Given the description of an element on the screen output the (x, y) to click on. 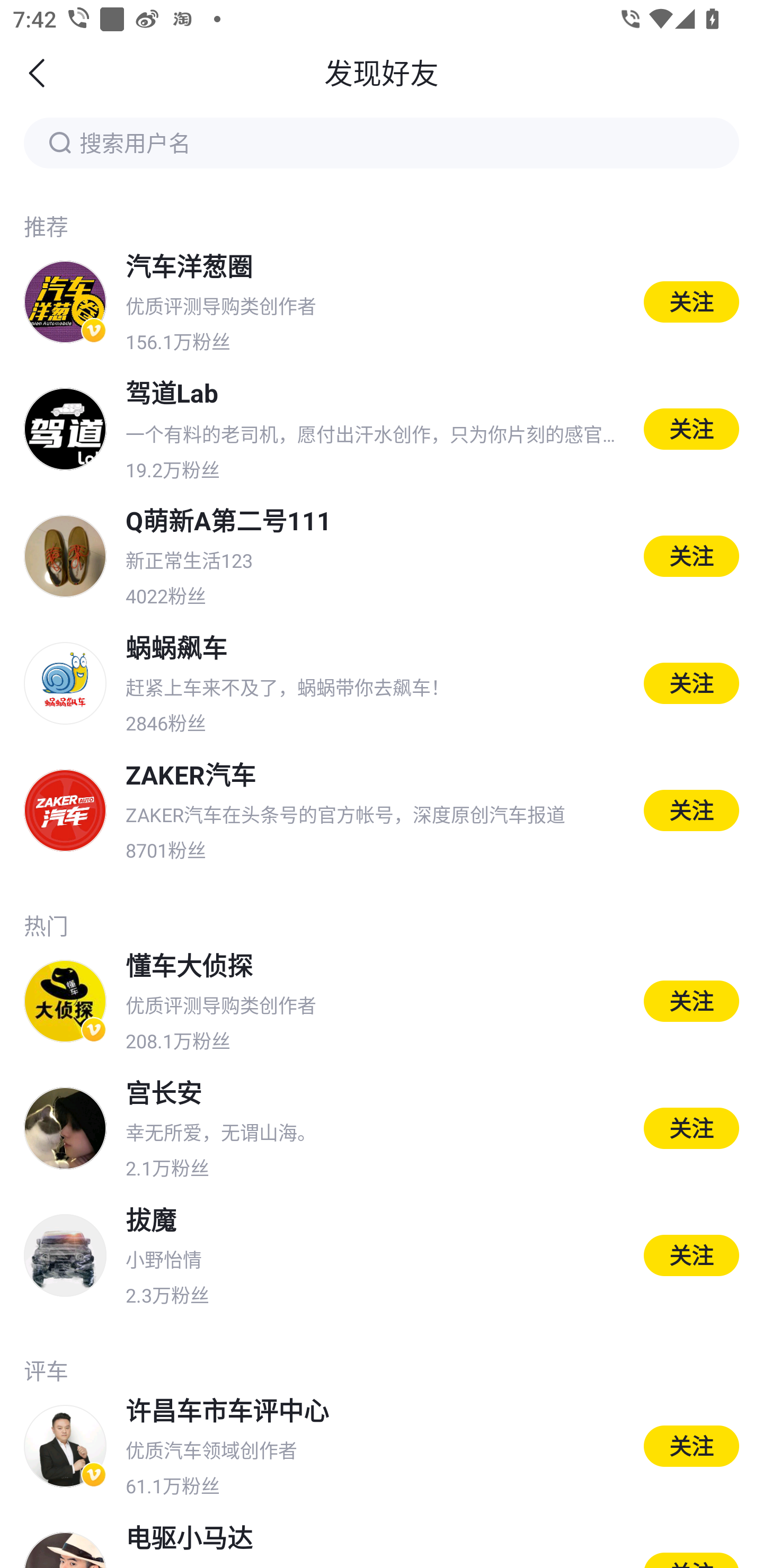
搜索用户名 (381, 142)
汽车洋葱圈 优质评测导购类创作者 156.1万粉丝 关注 (381, 301)
关注 (691, 301)
驾道Lab 一个有料的老司机，愿付出汗水创作，只为你片刻的感官享受 19.2万粉丝 关注 (381, 428)
关注 (691, 428)
Q萌新A第二号111 新正常生活123 4022粉丝 关注 (381, 555)
关注 (691, 556)
蜗蜗飙车 赶紧上车来不及了，蜗蜗带你去飙车！ 2846粉丝 关注 (381, 682)
关注 (691, 683)
ZAKER汽车 ZAKER汽车在头条号的官方帐号，深度原创汽车报道 8701粉丝 关注 (381, 809)
关注 (691, 810)
懂车大侦探 优质评测导购类创作者 208.1万粉丝 关注 (381, 1000)
关注 (691, 1001)
宫长安 幸无所爱，无谓山海。 2.1万粉丝 关注 (381, 1127)
关注 (691, 1128)
拔魔 小野怡情 2.3万粉丝 关注 (381, 1254)
关注 (691, 1255)
许昌车市车评中心 优质汽车领域创作者 61.1万粉丝 关注 (381, 1446)
关注 (691, 1445)
